Given the description of an element on the screen output the (x, y) to click on. 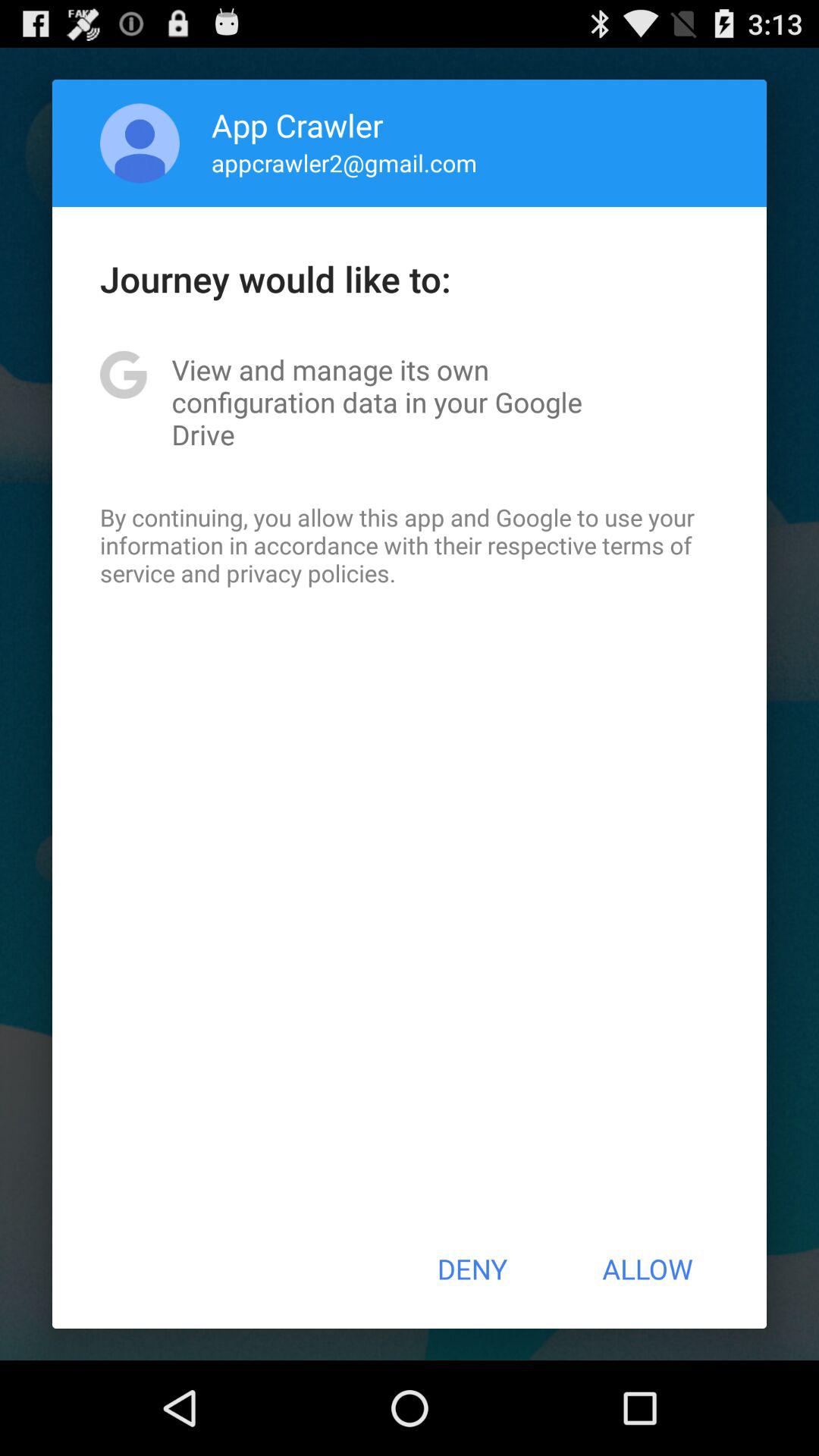
click item below the app crawler (344, 162)
